Given the description of an element on the screen output the (x, y) to click on. 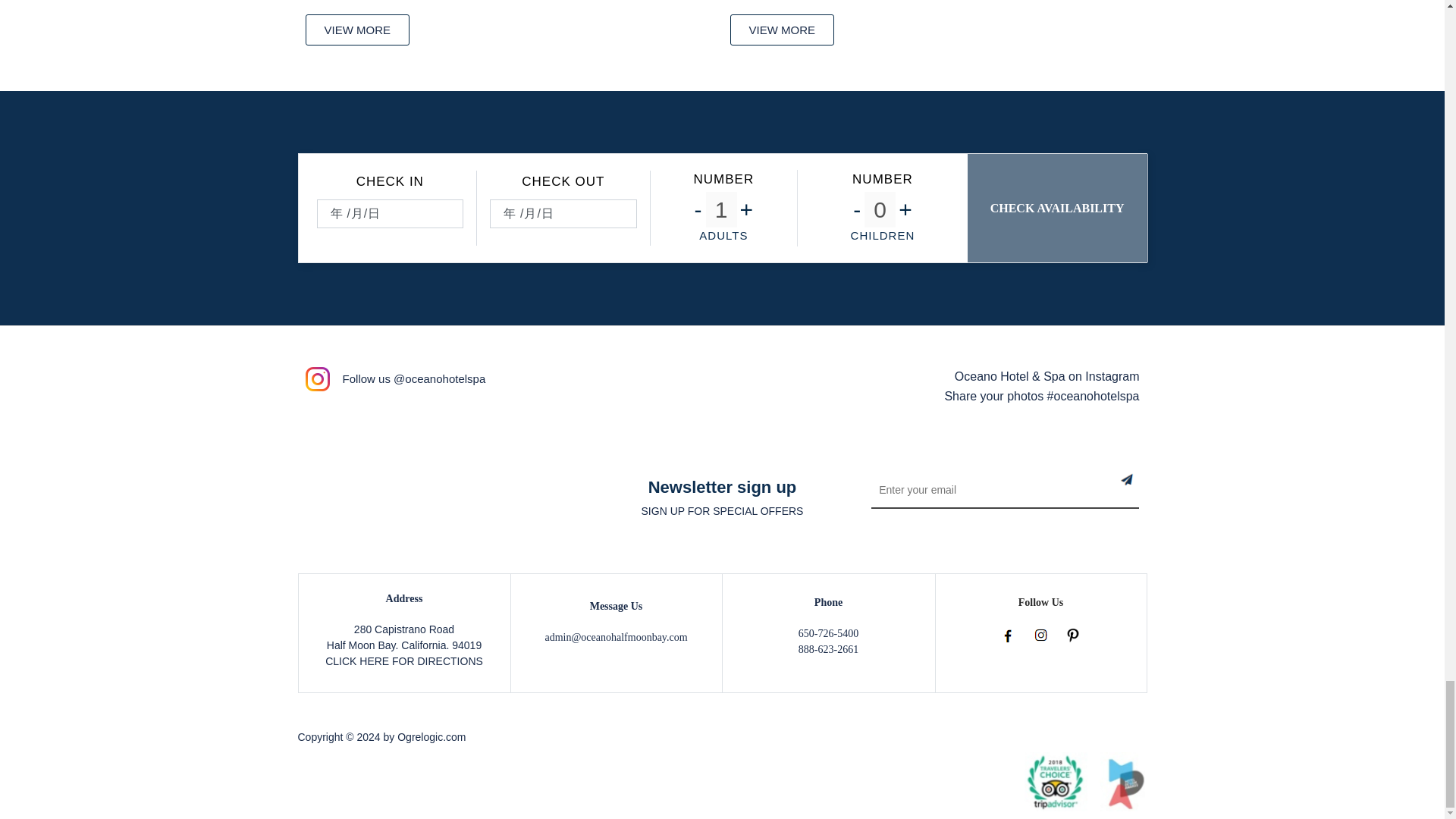
VIEW MORE (356, 29)
Subscribe (1139, 491)
Check Availability (1058, 207)
Subscribe (1139, 491)
VIEW MORE (781, 29)
Check Availability (1058, 207)
